Given the description of an element on the screen output the (x, y) to click on. 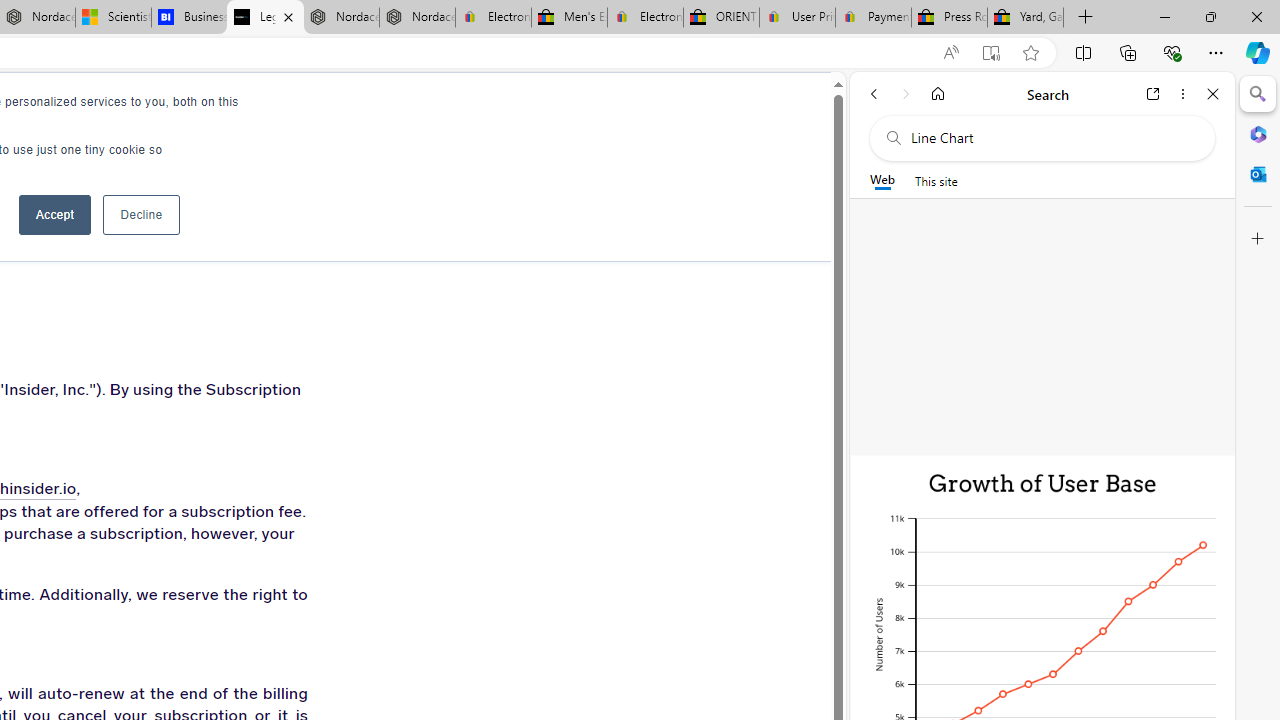
CONTACT US (377, 110)
Decline (141, 214)
User Privacy Notice | eBay (797, 17)
Minimize Search pane (1258, 94)
